Given the description of an element on the screen output the (x, y) to click on. 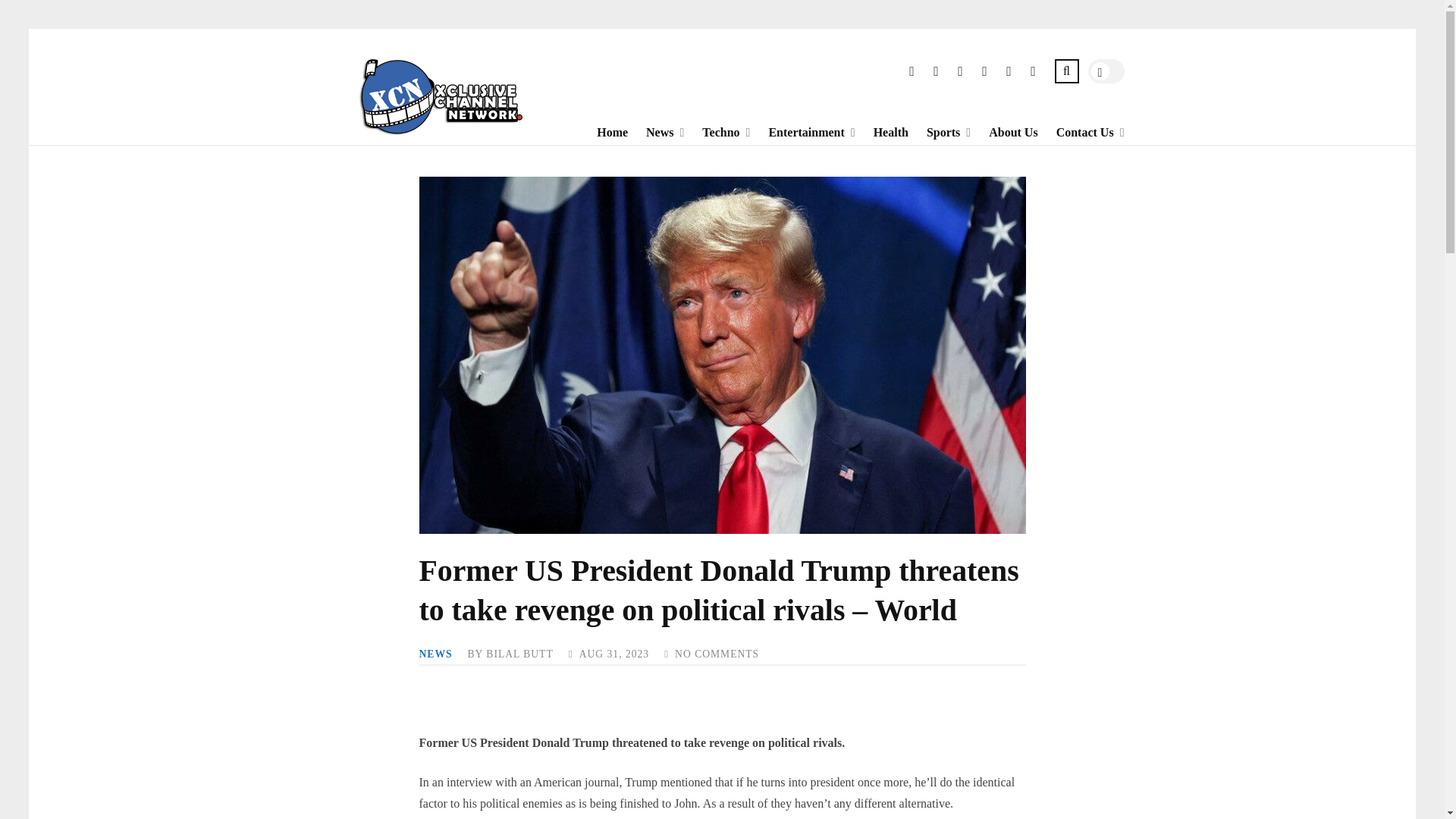
Home (602, 132)
BILAL BUTT (519, 654)
Sports (933, 132)
Contact Us (1075, 132)
Health (882, 132)
NO COMMENTS (716, 654)
NEWS (435, 654)
Entertainment (796, 132)
Techno (711, 132)
Posts by Bilal Butt (519, 654)
About Us (1003, 132)
News (649, 132)
